Given the description of an element on the screen output the (x, y) to click on. 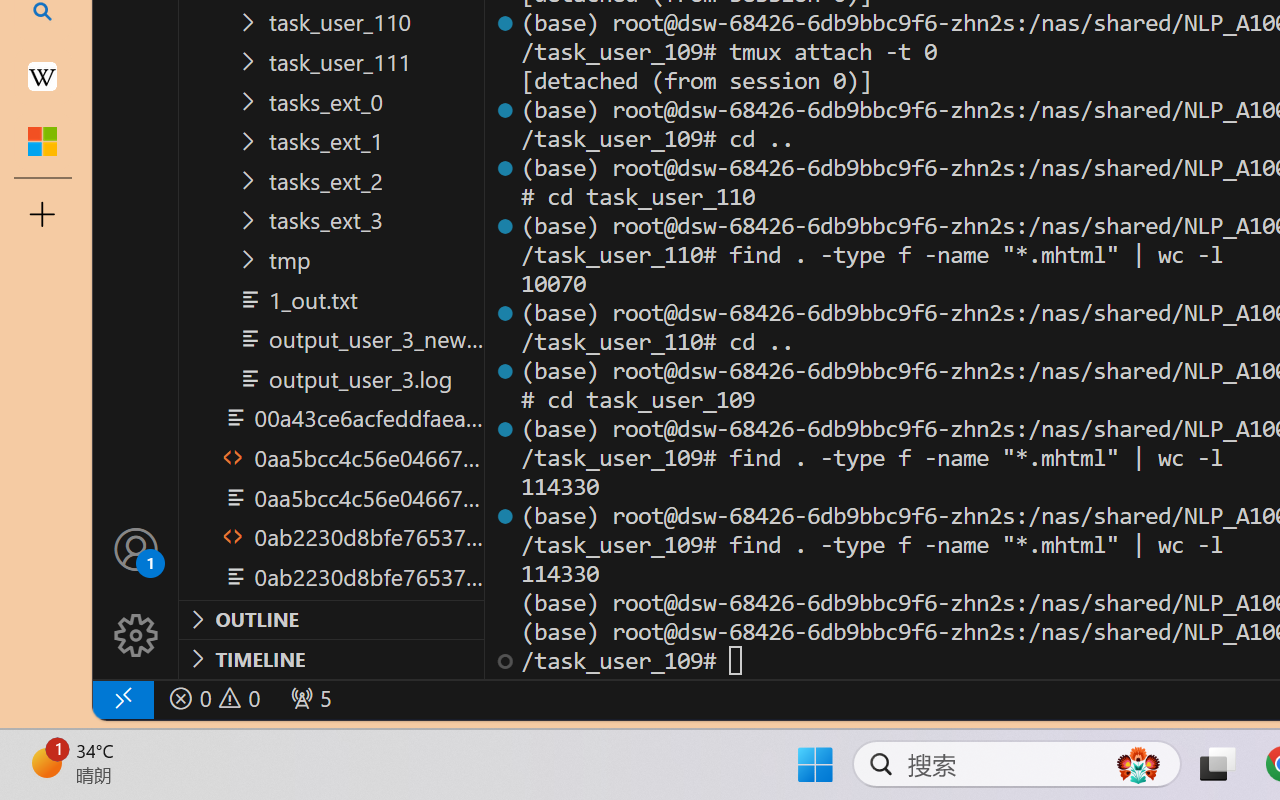
remote (122, 698)
Manage (135, 635)
Manage (135, 591)
Timeline Section (331, 658)
No Problems (212, 698)
Forwarded Ports: 36301, 47065, 38781, 45817, 50331 (308, 698)
Earth - Wikipedia (42, 75)
Accounts - Sign in requested (135, 548)
Outline Section (331, 619)
